Given the description of an element on the screen output the (x, y) to click on. 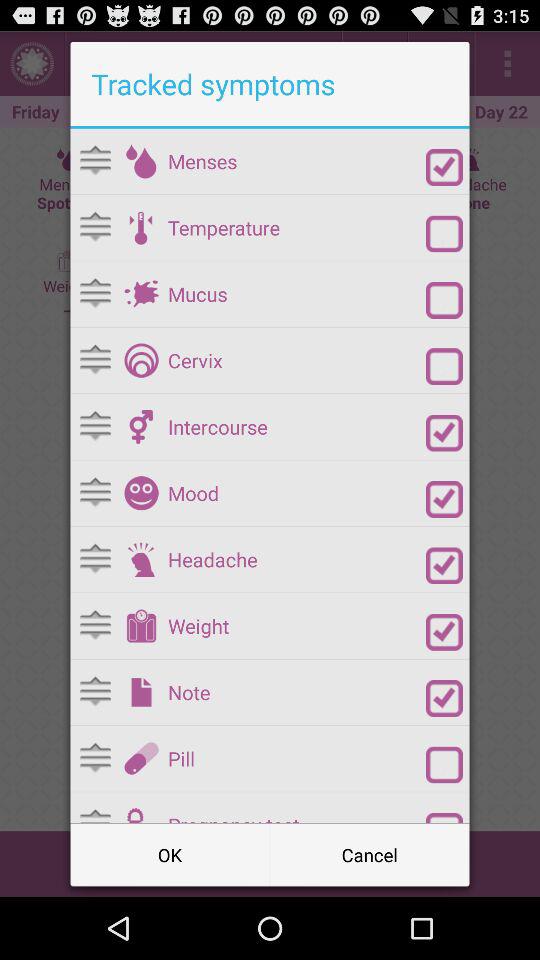
swipe until menses icon (296, 161)
